Given the description of an element on the screen output the (x, y) to click on. 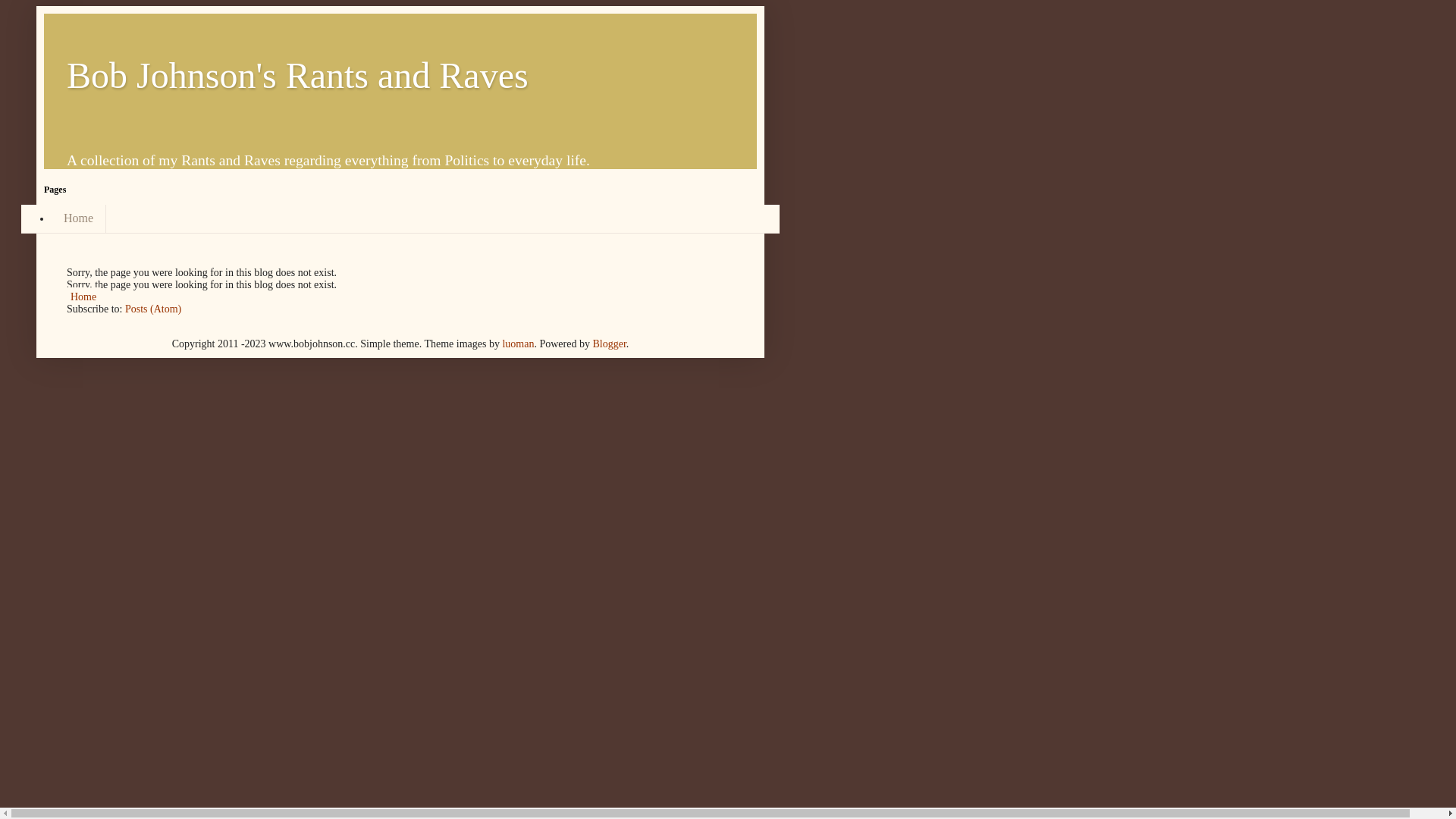
Home Element type: text (78, 218)
Posts (Atom) Element type: text (153, 308)
luoman Element type: text (517, 343)
Bob Johnson's Rants and Raves Element type: text (297, 75)
Home Element type: text (83, 296)
Blogger Element type: text (608, 343)
